Given the description of an element on the screen output the (x, y) to click on. 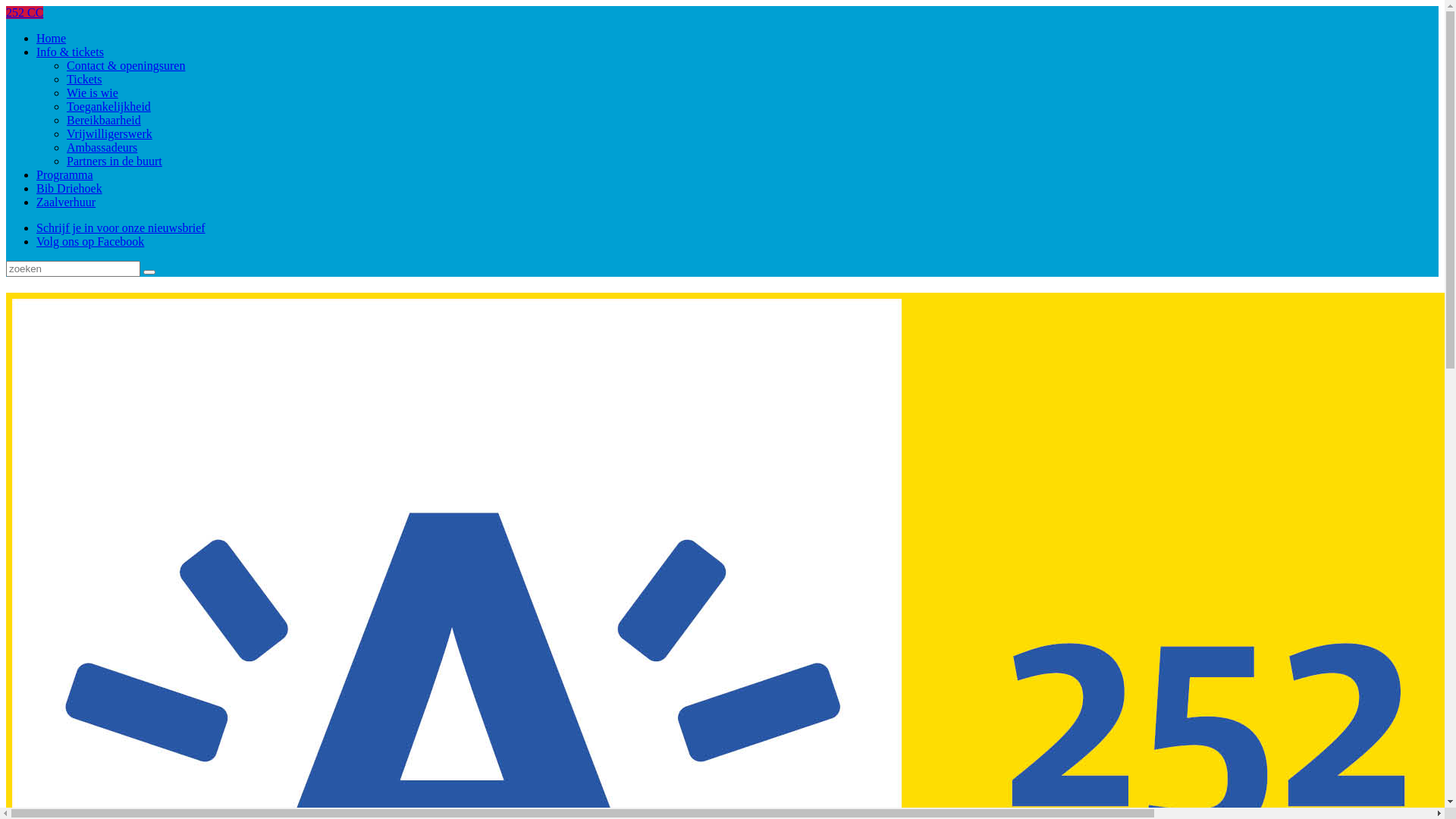
Schrijf je in voor onze nieuwsbrief Element type: text (120, 227)
Home Element type: text (50, 37)
Zaalverhuur Element type: text (65, 201)
Volg ons op Facebook Element type: text (90, 241)
Contact & openingsuren Element type: text (125, 65)
Wie is wie Element type: text (92, 92)
Info & tickets Element type: text (69, 51)
Vrijwilligerswerk Element type: text (109, 133)
Tickets Element type: text (84, 78)
Programma Element type: text (64, 174)
Ambassadeurs Element type: text (101, 147)
zoeken Element type: text (149, 271)
252 CC Element type: text (24, 12)
Toegankelijkheid Element type: text (108, 106)
Partners in de buurt Element type: text (114, 160)
zoeken Element type: hover (149, 271)
Bereikbaarheid Element type: text (103, 119)
Bib Driehoek Element type: text (69, 188)
